Given the description of an element on the screen output the (x, y) to click on. 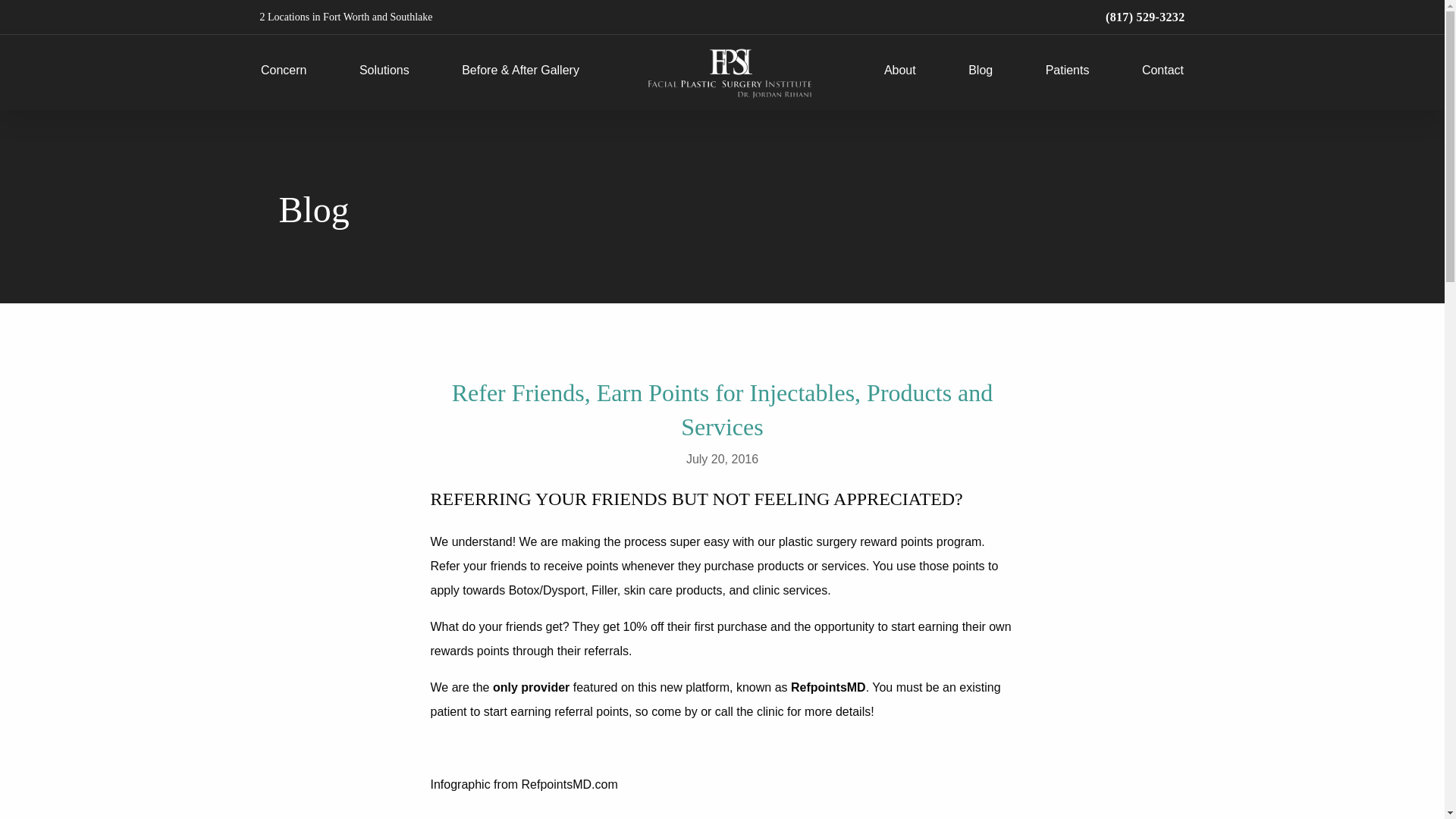
Solutions (384, 72)
About (899, 72)
Patients (1067, 72)
Blog (980, 72)
2 Locations in Fort Worth and Southlake (345, 16)
Contact (1162, 72)
Concern (282, 72)
